Given the description of an element on the screen output the (x, y) to click on. 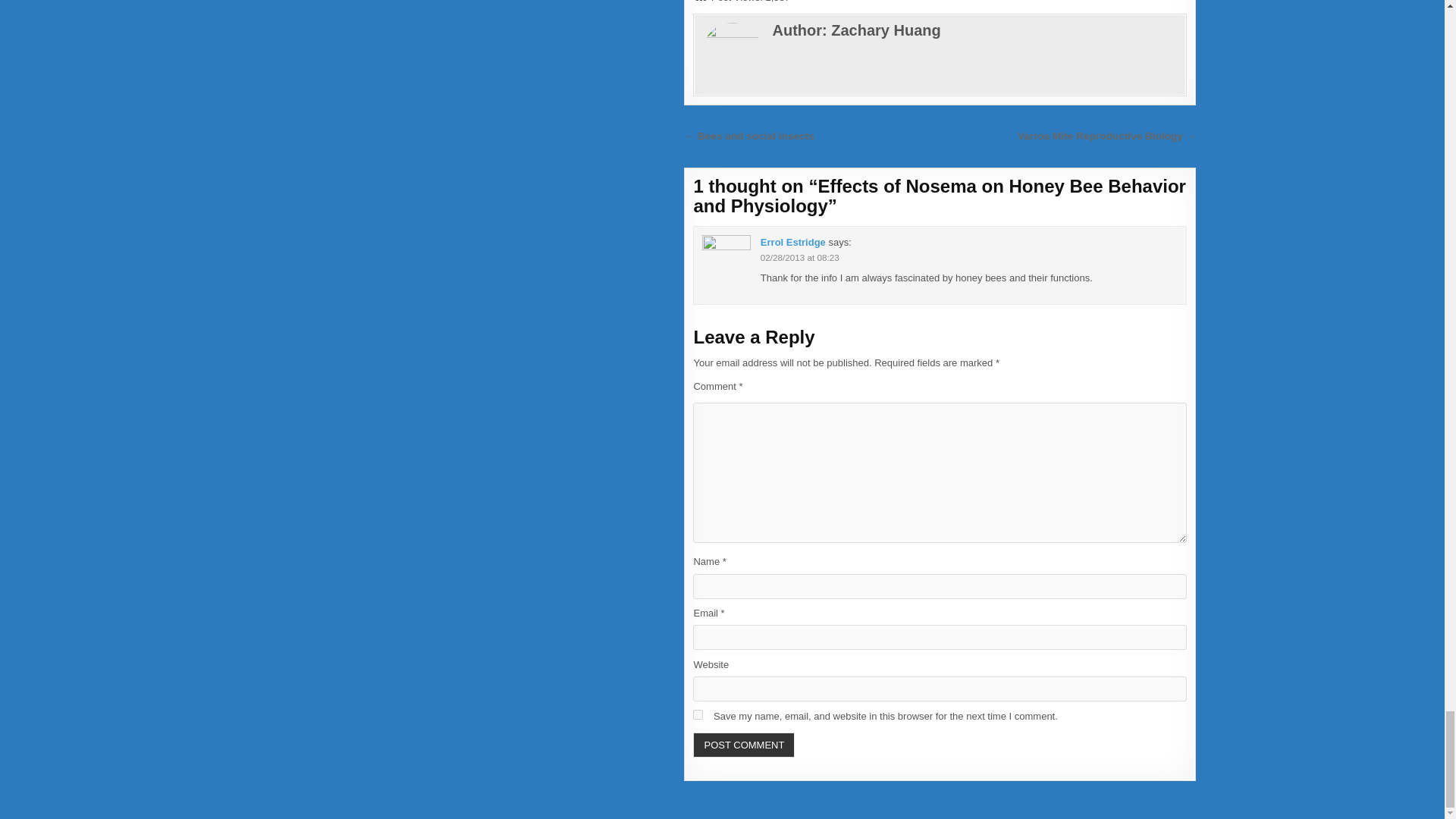
yes (698, 714)
Post Comment (743, 744)
Errol Estridge (792, 242)
Post Comment (743, 744)
